Given the description of an element on the screen output the (x, y) to click on. 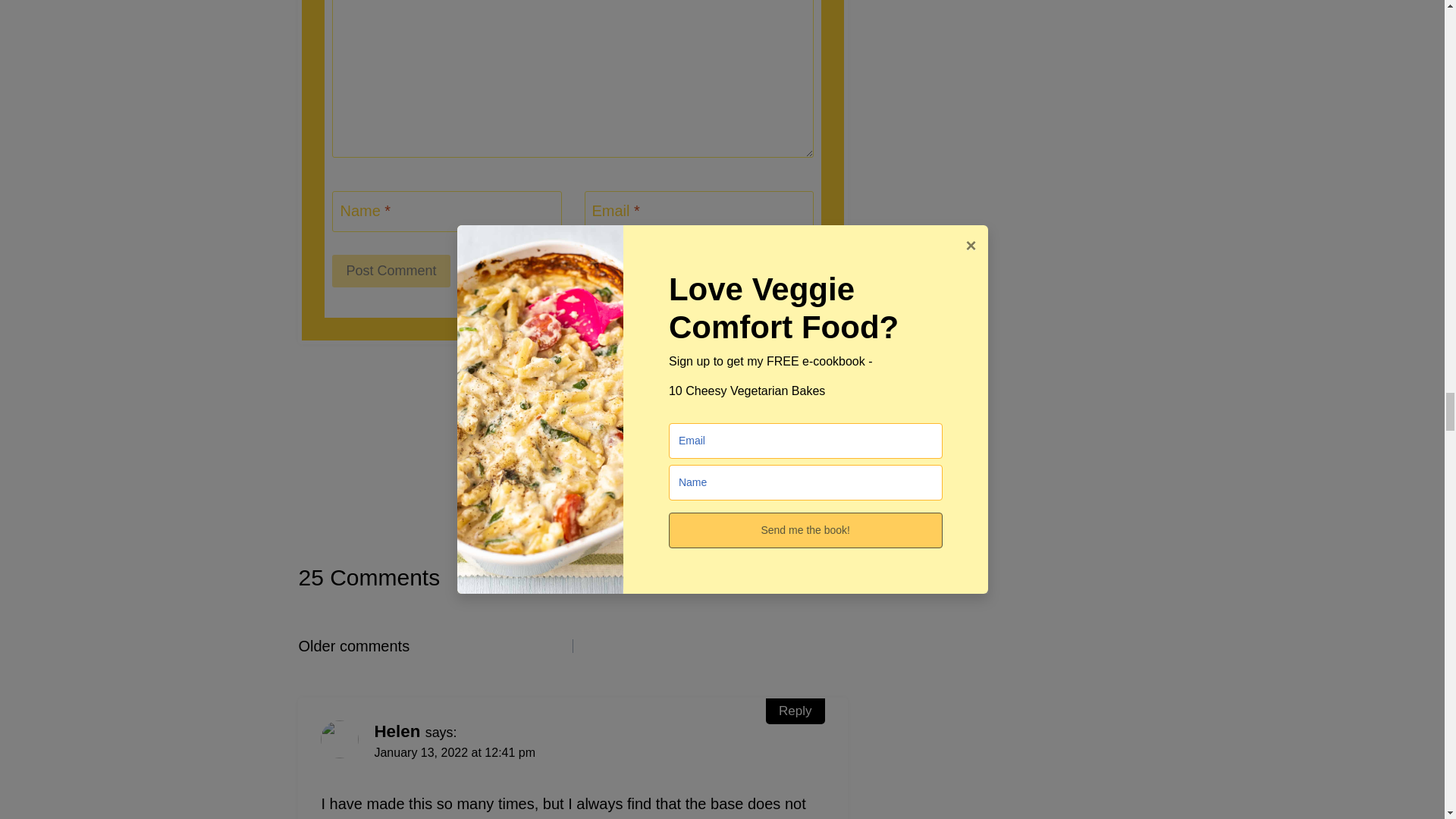
Post Comment (390, 270)
Older comments (435, 646)
January 13, 2022 at 12:41 pm (454, 752)
Post Comment (390, 270)
